Given the description of an element on the screen output the (x, y) to click on. 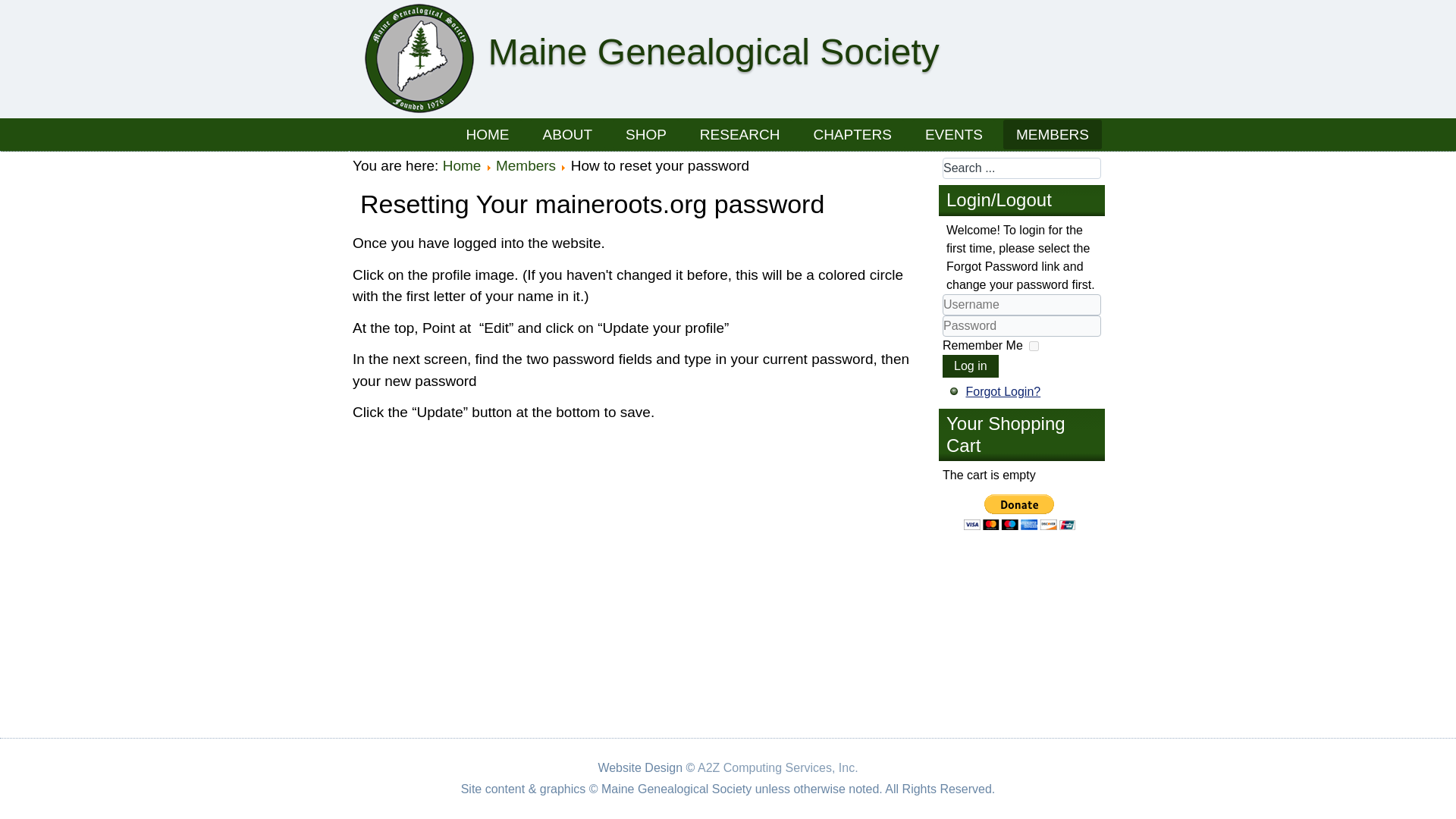
CHAPTERS (851, 134)
Search ... (1021, 168)
MEMBERS (1052, 134)
EVENTS (953, 134)
SHOP (645, 134)
Members (526, 165)
yes (1034, 346)
HOME (487, 134)
Home (461, 165)
Forgot Login? (1003, 391)
